Given the description of an element on the screen output the (x, y) to click on. 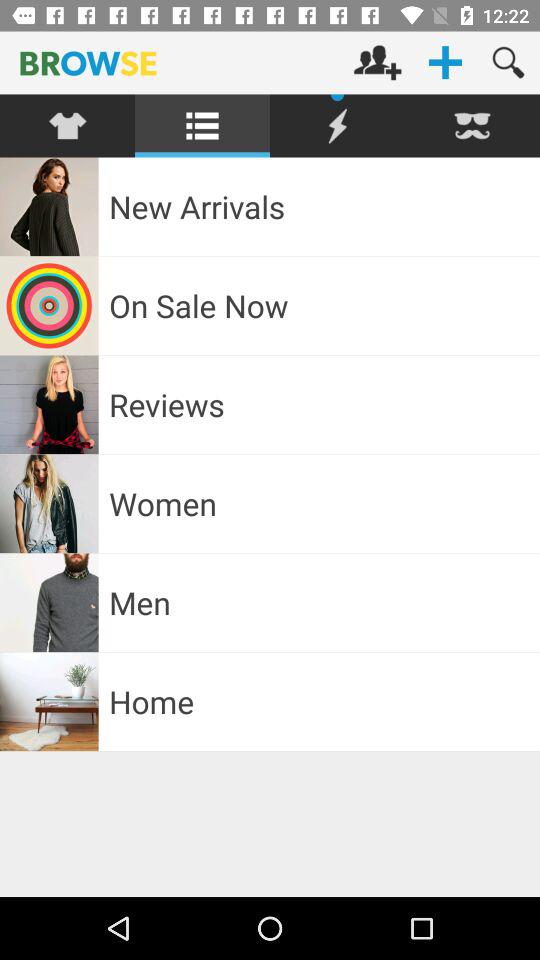
click dress categories (67, 125)
